Given the description of an element on the screen output the (x, y) to click on. 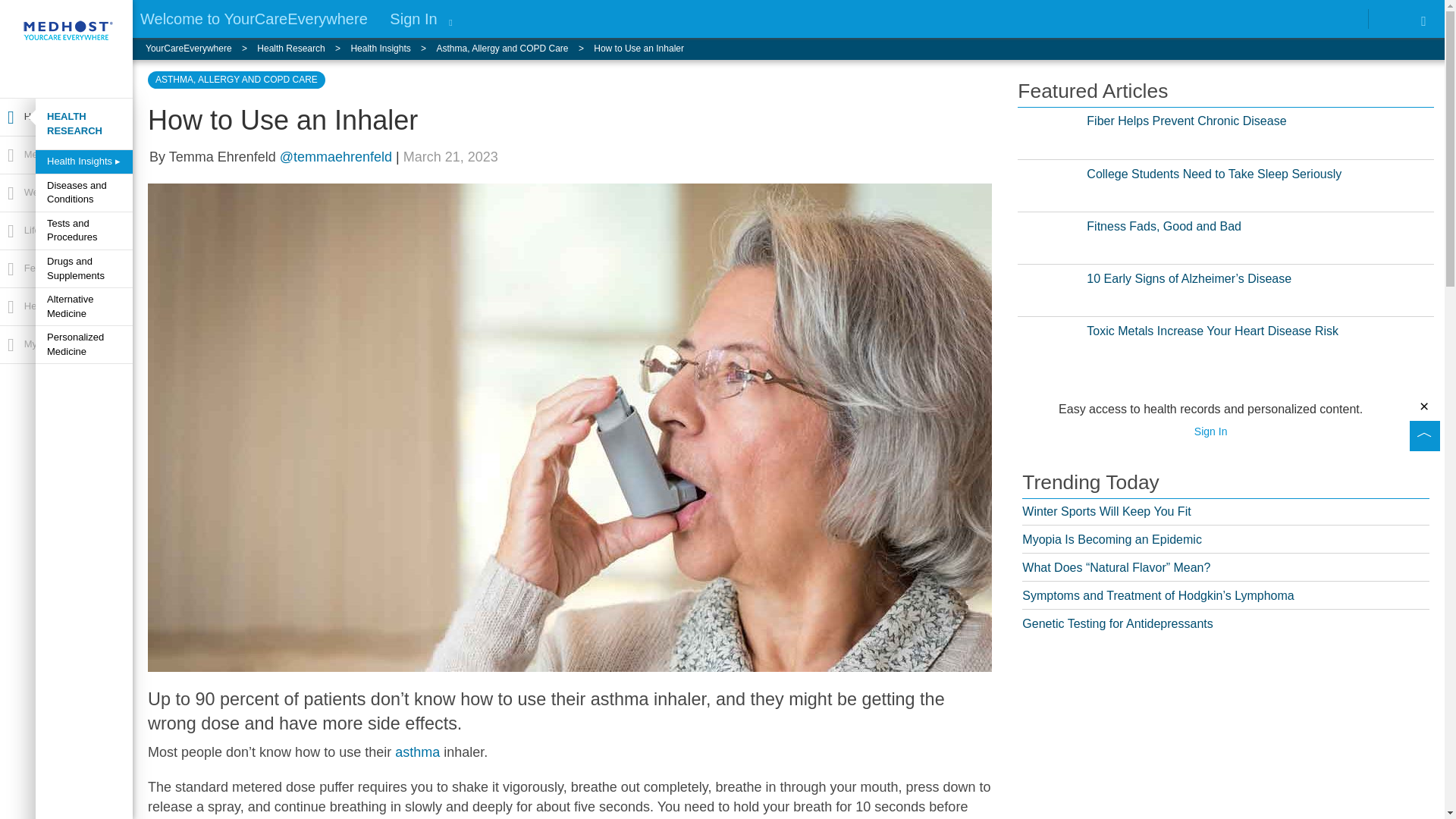
Health Research (303, 48)
Health Research (65, 116)
YourCareEverywhere (201, 48)
HEALTH RESEARCH (83, 123)
Health Insights (392, 48)
Sign In (413, 18)
Asthma, Allergy and COPD Care (514, 48)
